Given the description of an element on the screen output the (x, y) to click on. 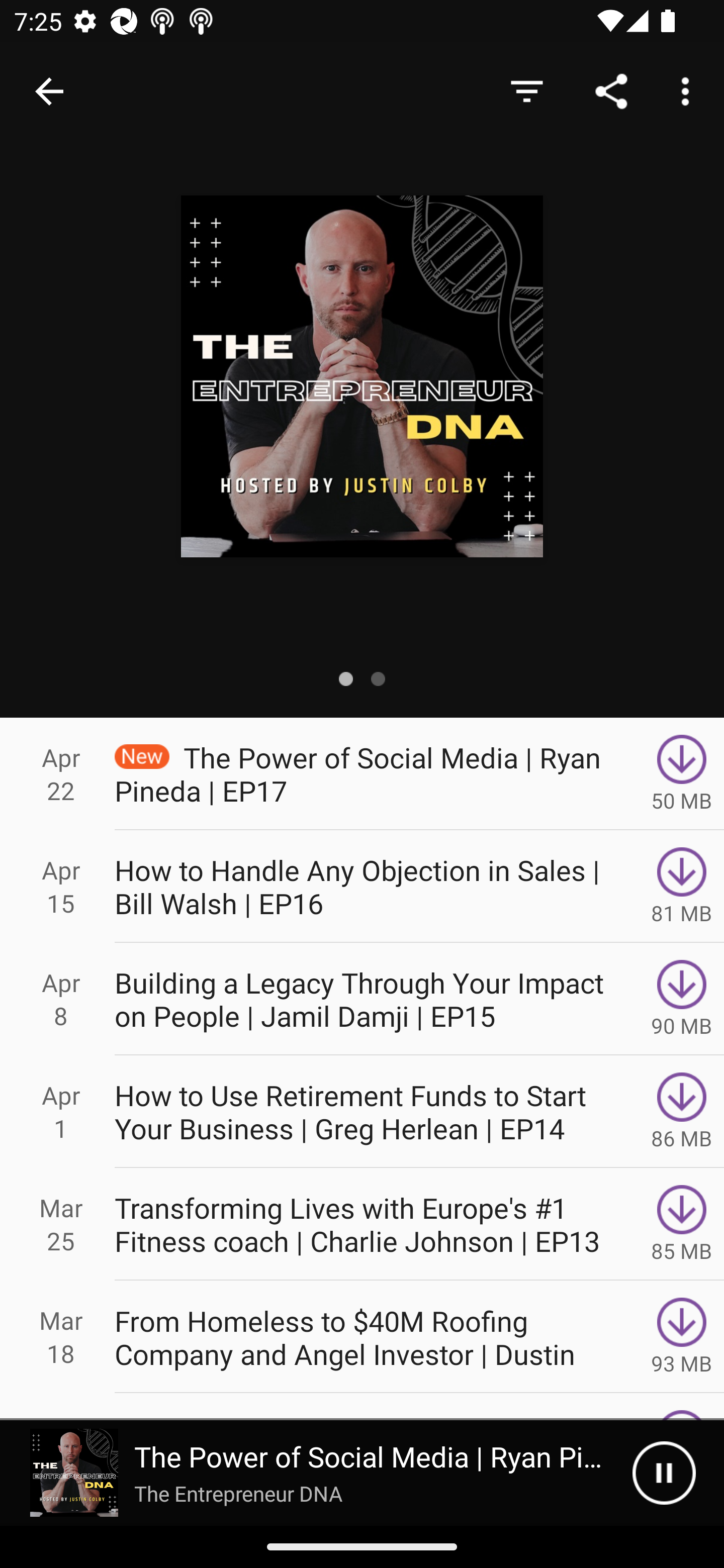
Navigate up (49, 91)
Hide Episodes (526, 90)
Share Link (611, 90)
More options (688, 90)
Download 50 MB (681, 773)
Download 81 MB (681, 885)
Download 90 MB (681, 998)
Download 86 MB (681, 1111)
Download 85 MB (681, 1224)
Download 93 MB (681, 1336)
Pause (663, 1472)
